Given the description of an element on the screen output the (x, y) to click on. 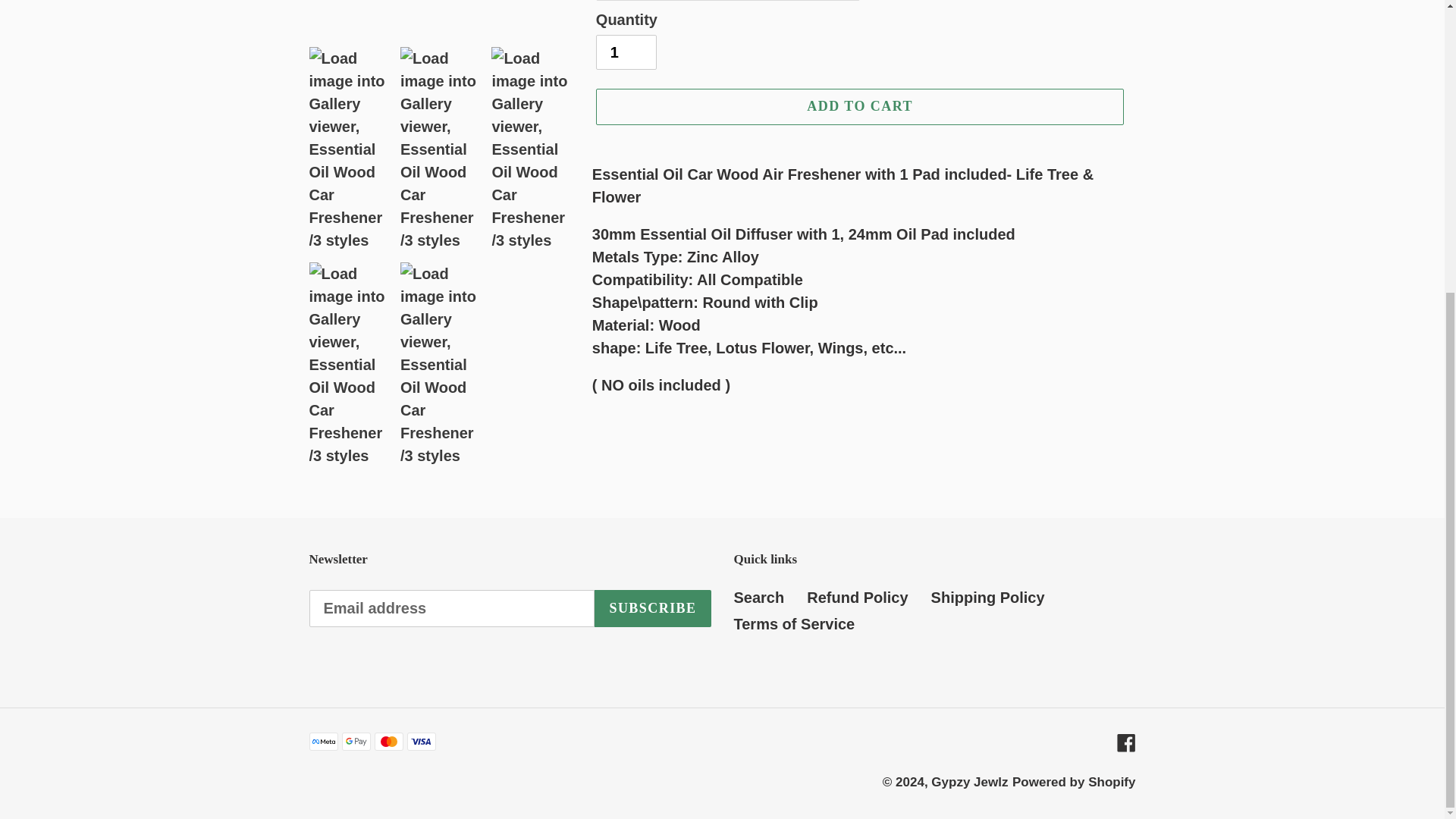
SUBSCRIBE (652, 608)
ADD TO CART (859, 106)
1 (625, 52)
